Given the description of an element on the screen output the (x, y) to click on. 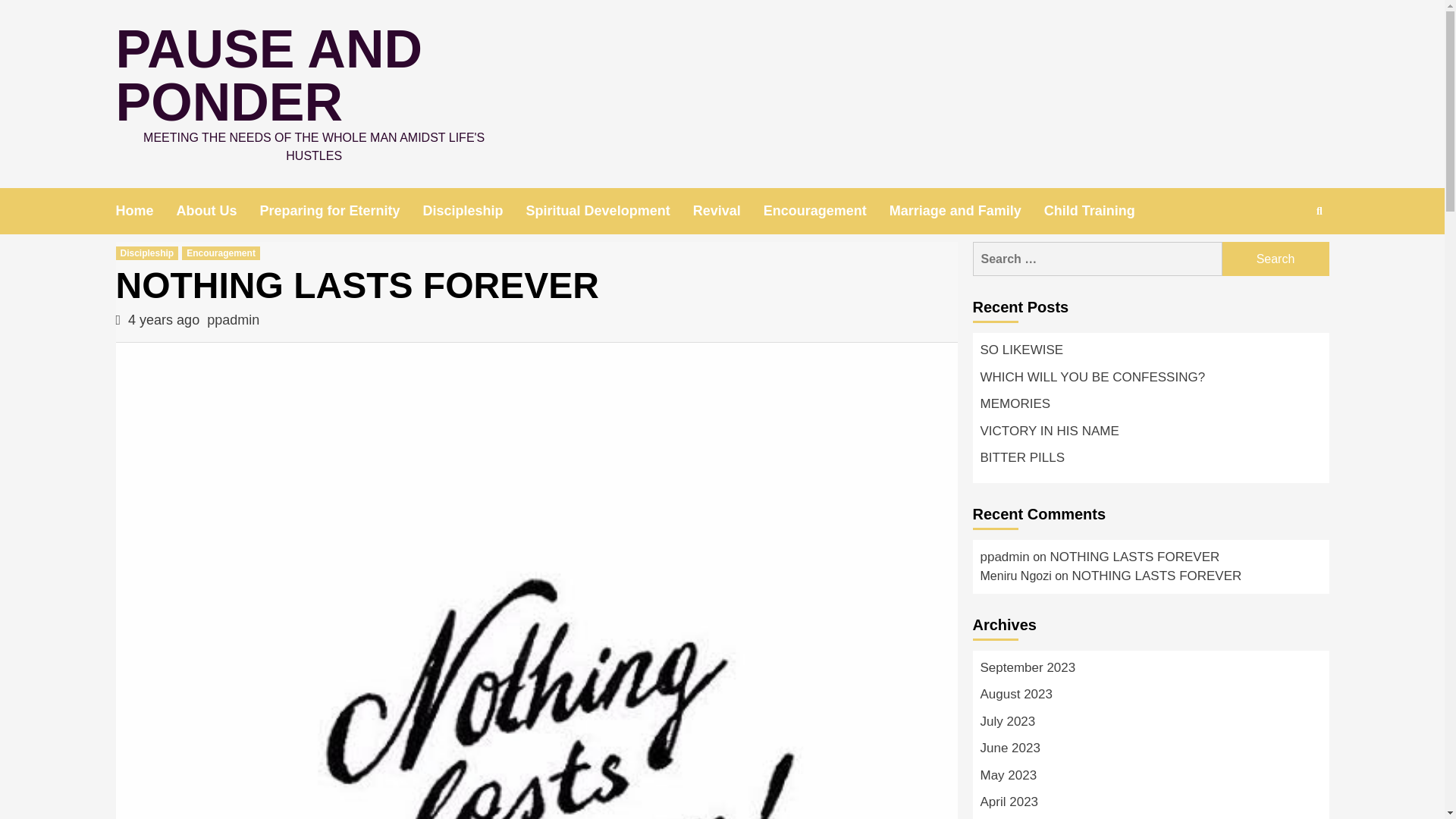
Preparing for Eternity (341, 211)
About Us (218, 211)
Search (1319, 210)
Encouragement (825, 211)
Discipleship (474, 211)
Discipleship (146, 253)
Home (145, 211)
Encouragement (221, 253)
Child Training (1100, 211)
Marriage and Family (966, 211)
Spiritual Development (609, 211)
Revival (727, 211)
PAUSE AND PONDER (268, 75)
Search (1283, 259)
Search (1276, 258)
